Given the description of an element on the screen output the (x, y) to click on. 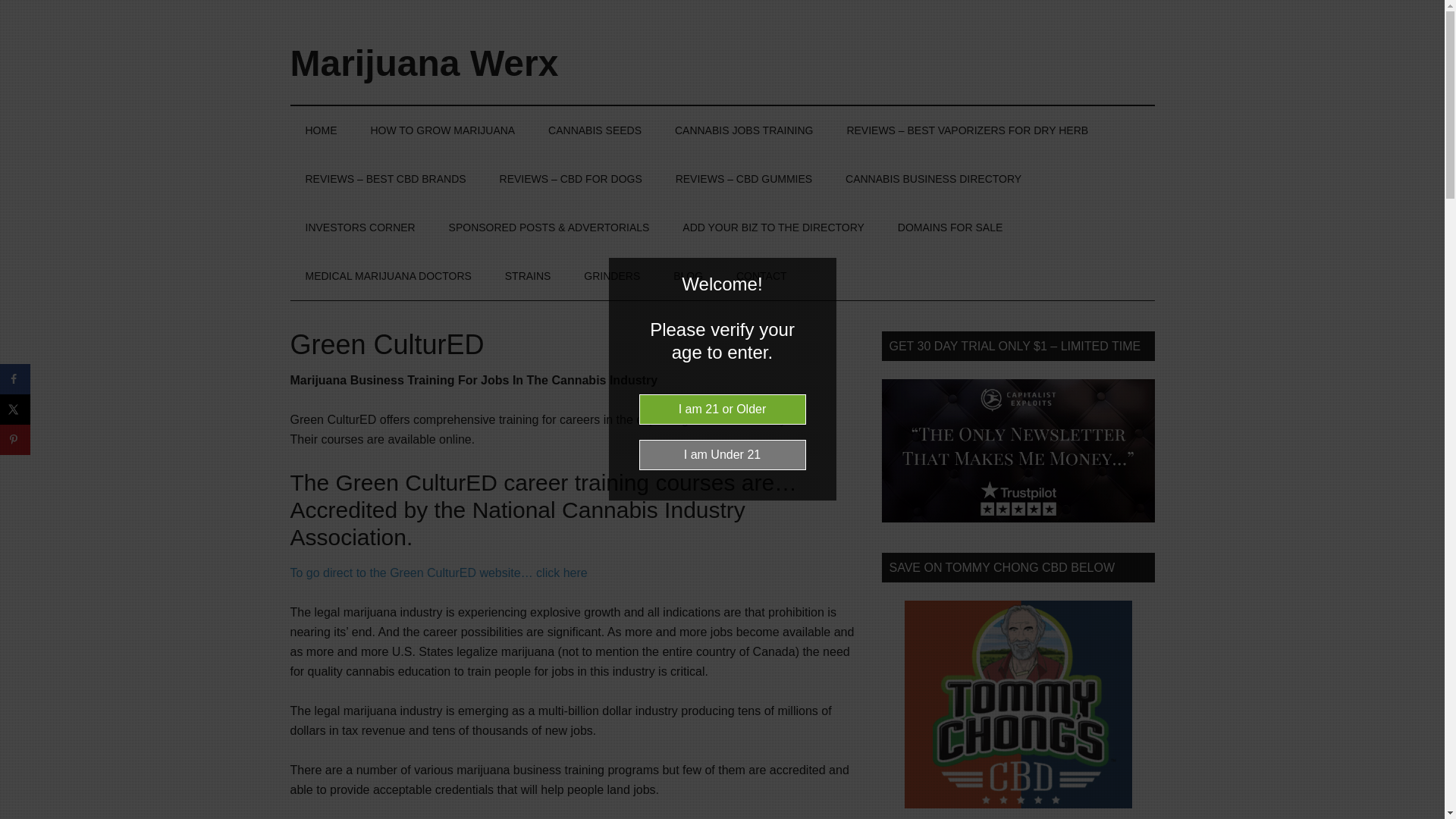
I am Under 21 (722, 454)
CANNABIS JOBS TRAINING (743, 130)
Save on Tommy Chong CBD Below (1017, 704)
I am 21 or Older (722, 409)
HOW TO GROW MARIJUANA (442, 130)
CANNABIS SEEDS (594, 130)
Share on Facebook (15, 378)
Save to Pinterest (15, 440)
Marijuana Werx (423, 63)
HOME (320, 130)
